Given the description of an element on the screen output the (x, y) to click on. 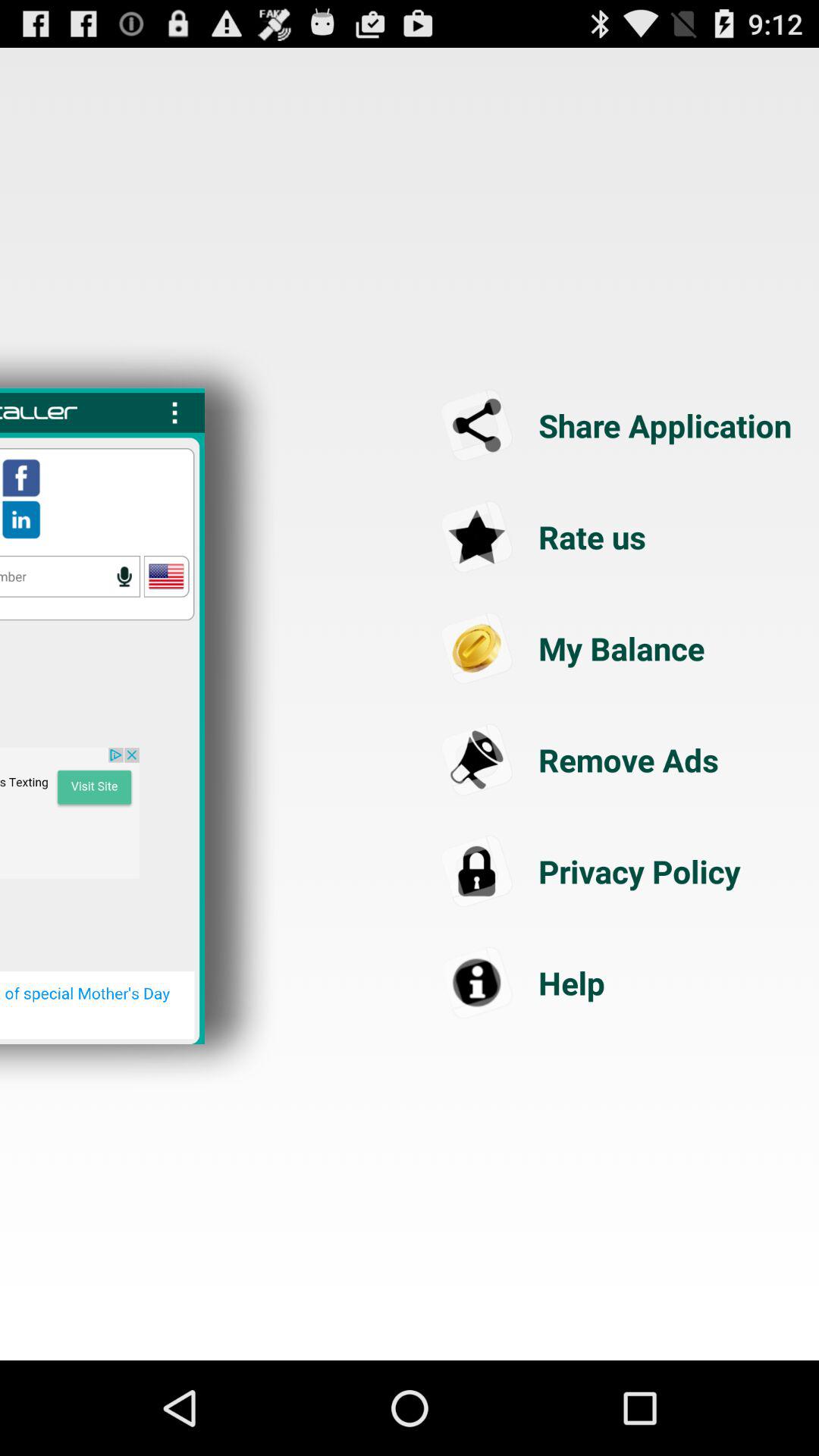
engage microphone (124, 576)
